Given the description of an element on the screen output the (x, y) to click on. 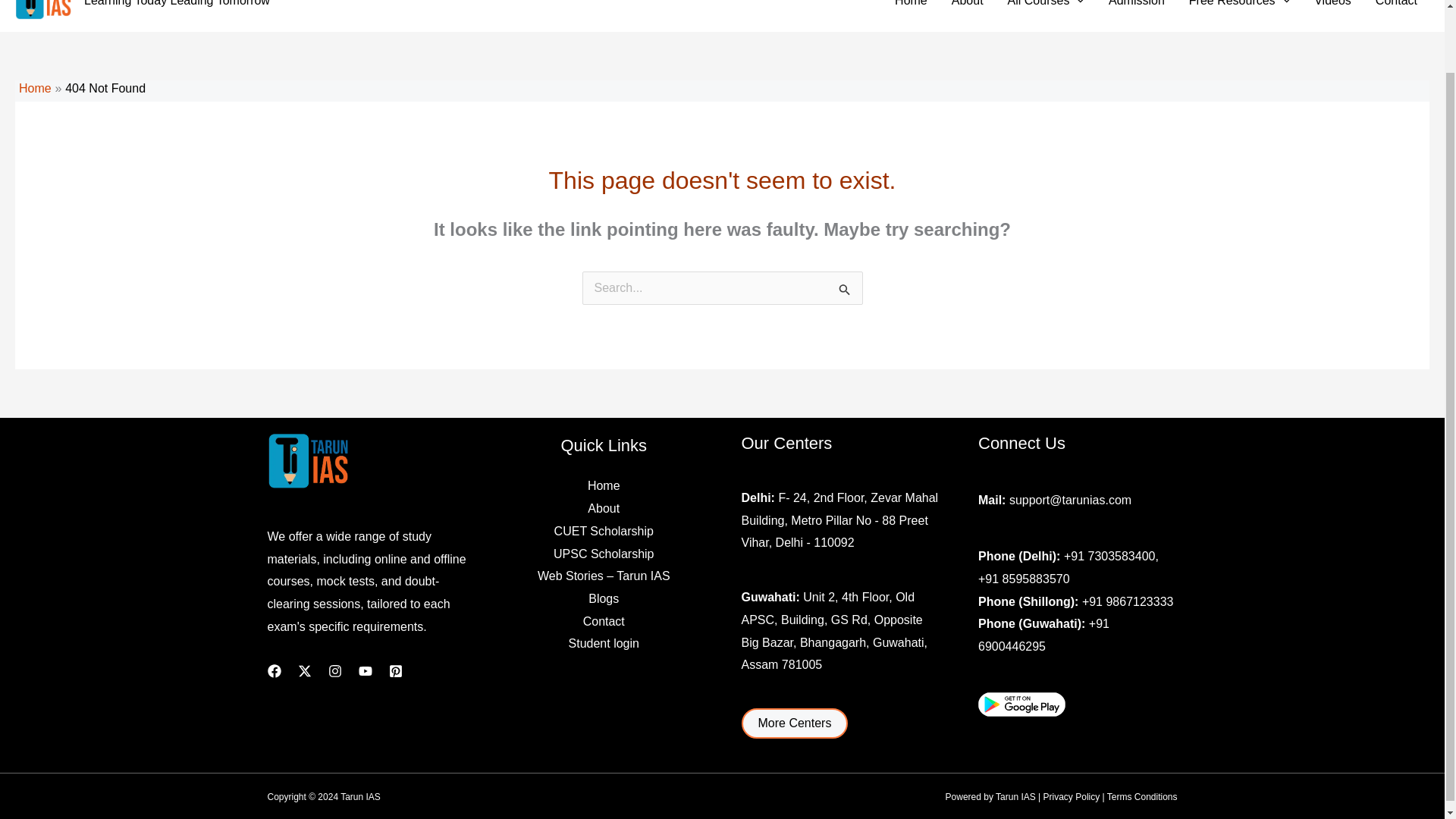
Home (910, 6)
About (967, 6)
Contact (1395, 6)
Videos (1331, 6)
Free Resources (1238, 6)
Admission (1136, 6)
All Courses (1045, 6)
Home (34, 88)
